Given the description of an element on the screen output the (x, y) to click on. 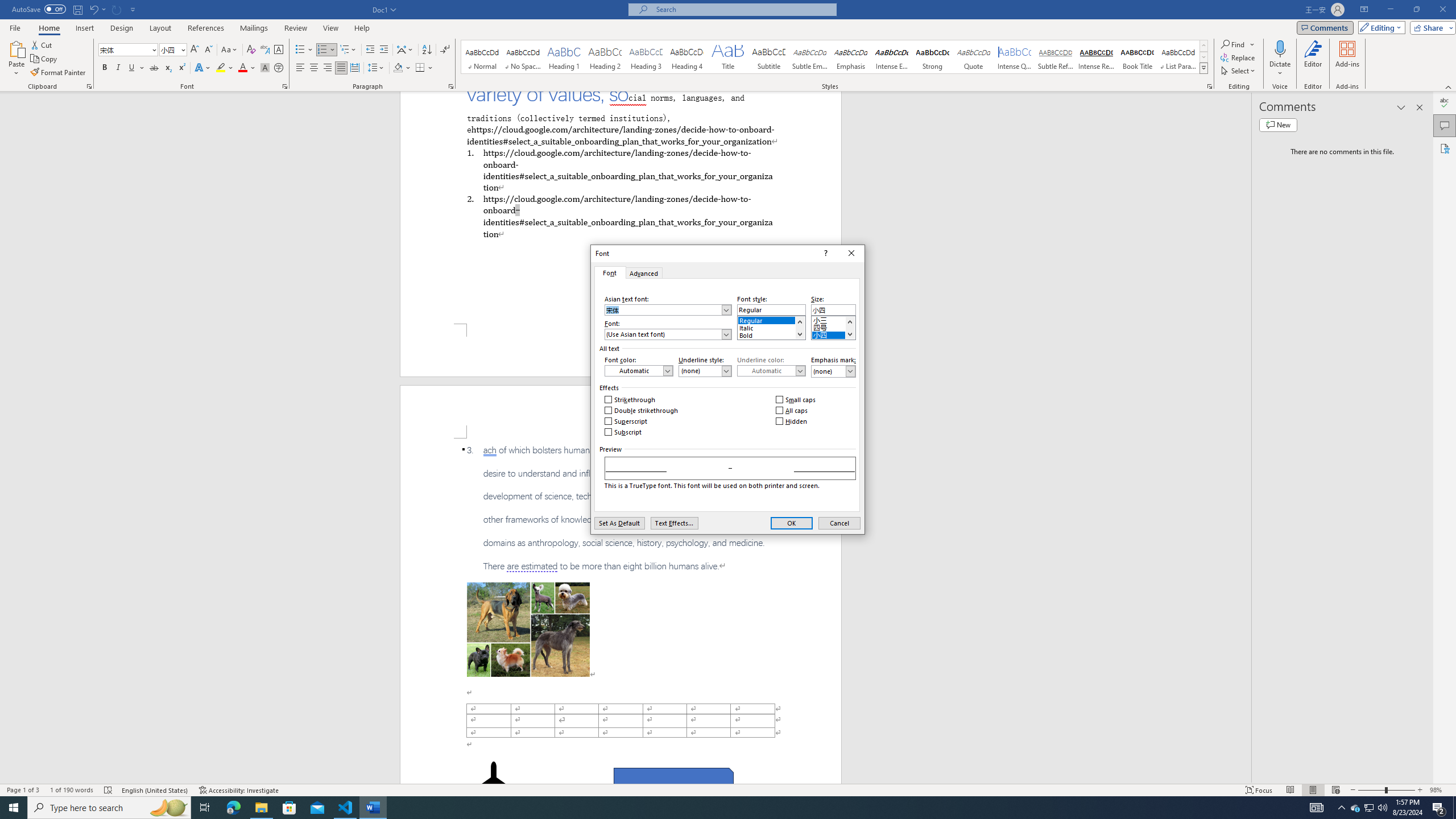
Multilevel List (347, 49)
Subscript (167, 67)
Subtitle (768, 56)
Text Effects... (673, 522)
Heading 1 (564, 56)
Italic (771, 326)
Text Highlight Color Yellow (220, 67)
Row Down (1203, 56)
Shading RGB(0, 0, 0) (397, 67)
Book Title (1136, 56)
Line up (849, 321)
Zoom In (1420, 790)
Emphasis (849, 56)
Action Center, 2 new notifications (1439, 807)
